Given the description of an element on the screen output the (x, y) to click on. 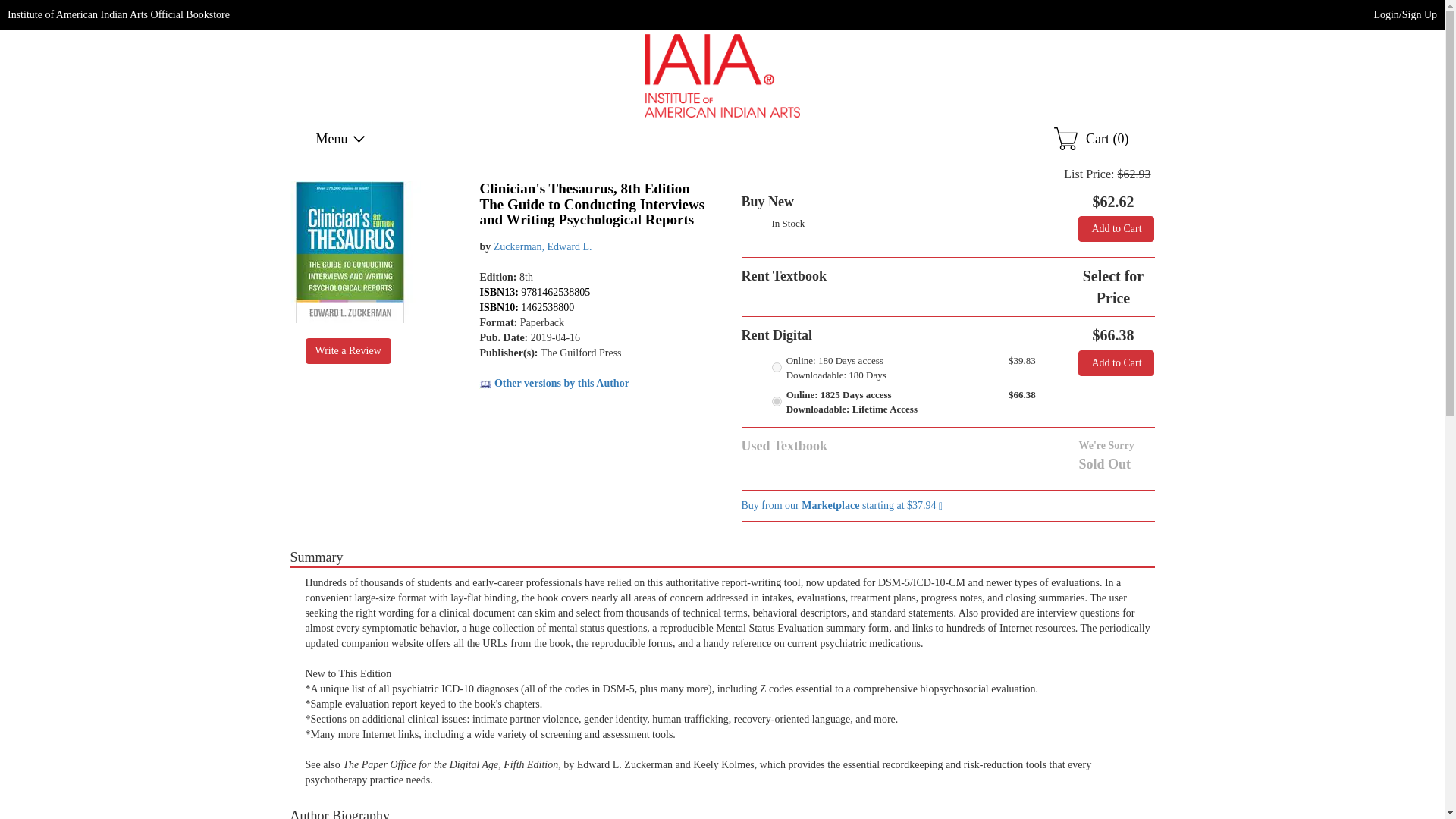
Institute of American Indian Arts Official Bookstore (118, 14)
ISBN10: 1462538800 (526, 307)
Menu (340, 138)
9781462538812R180 (776, 367)
9781462538812 (776, 401)
Other versions by this Author (553, 383)
Add to Cart (1116, 362)
Write a Review (347, 350)
Add to Cart (1116, 228)
